Given the description of an element on the screen output the (x, y) to click on. 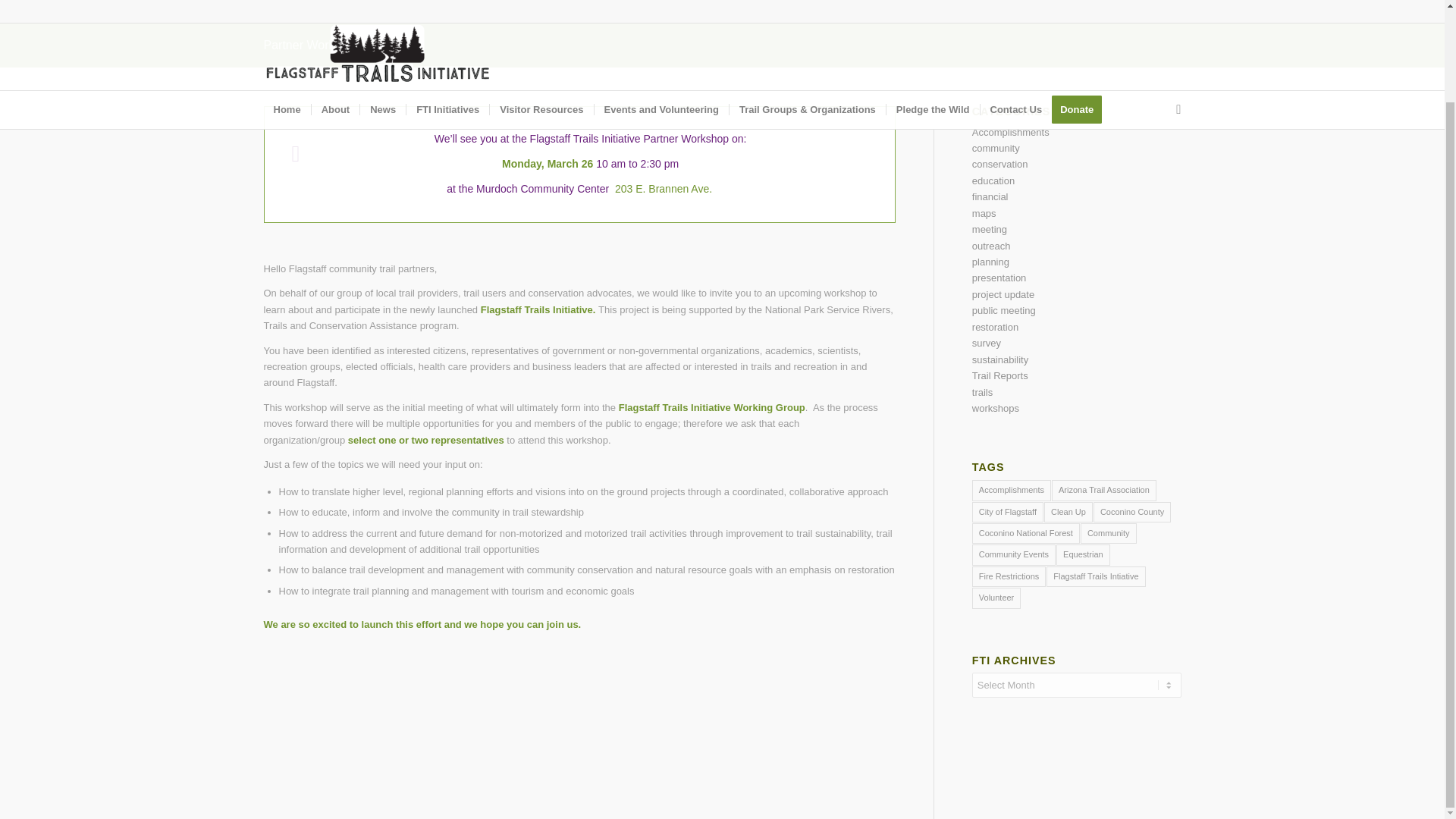
meeting (989, 229)
Permanent Link: Partner Workshop (312, 44)
Pledge the Wild (932, 11)
Events and Volunteering (661, 11)
203 E. Brannen Ave. (662, 188)
planning (990, 261)
conservation (999, 163)
outreach (991, 245)
maps (983, 213)
News (382, 11)
